Given the description of an element on the screen output the (x, y) to click on. 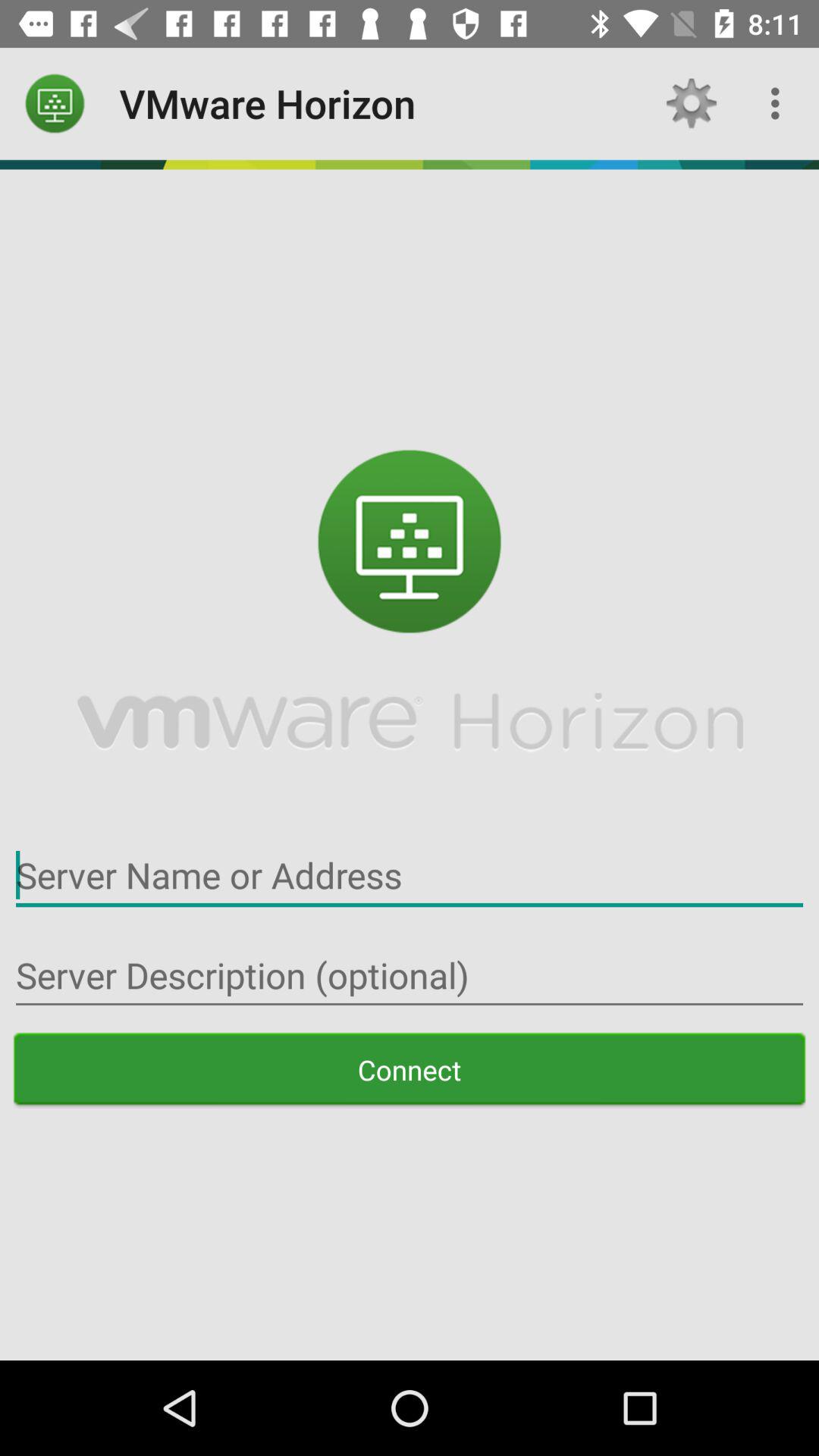
open the connect item (409, 1069)
